Given the description of an element on the screen output the (x, y) to click on. 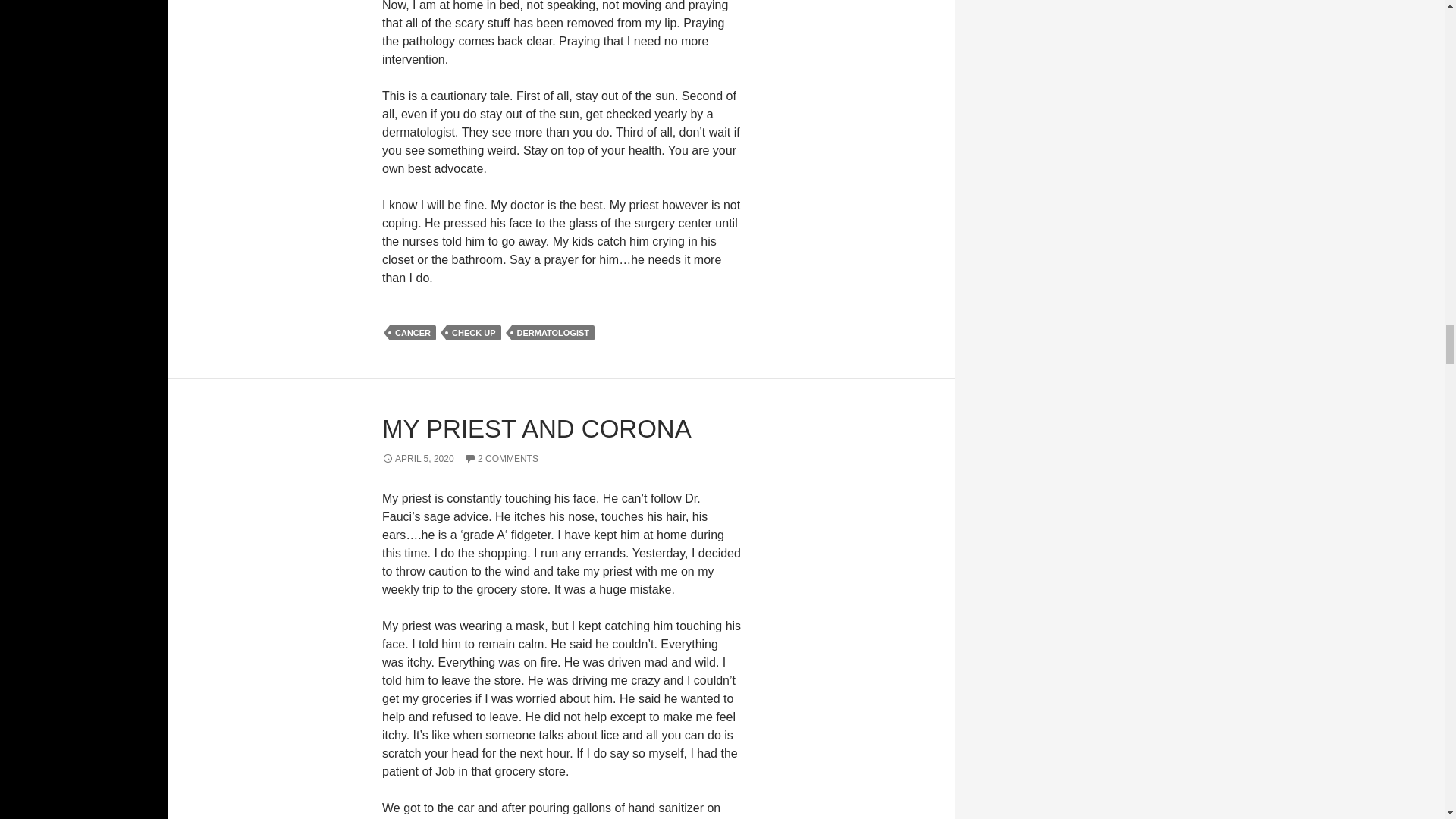
APRIL 5, 2020 (417, 458)
CHECK UP (473, 332)
CANCER (412, 332)
2 COMMENTS (501, 458)
DERMATOLOGIST (553, 332)
MY PRIEST AND CORONA (536, 428)
